Given the description of an element on the screen output the (x, y) to click on. 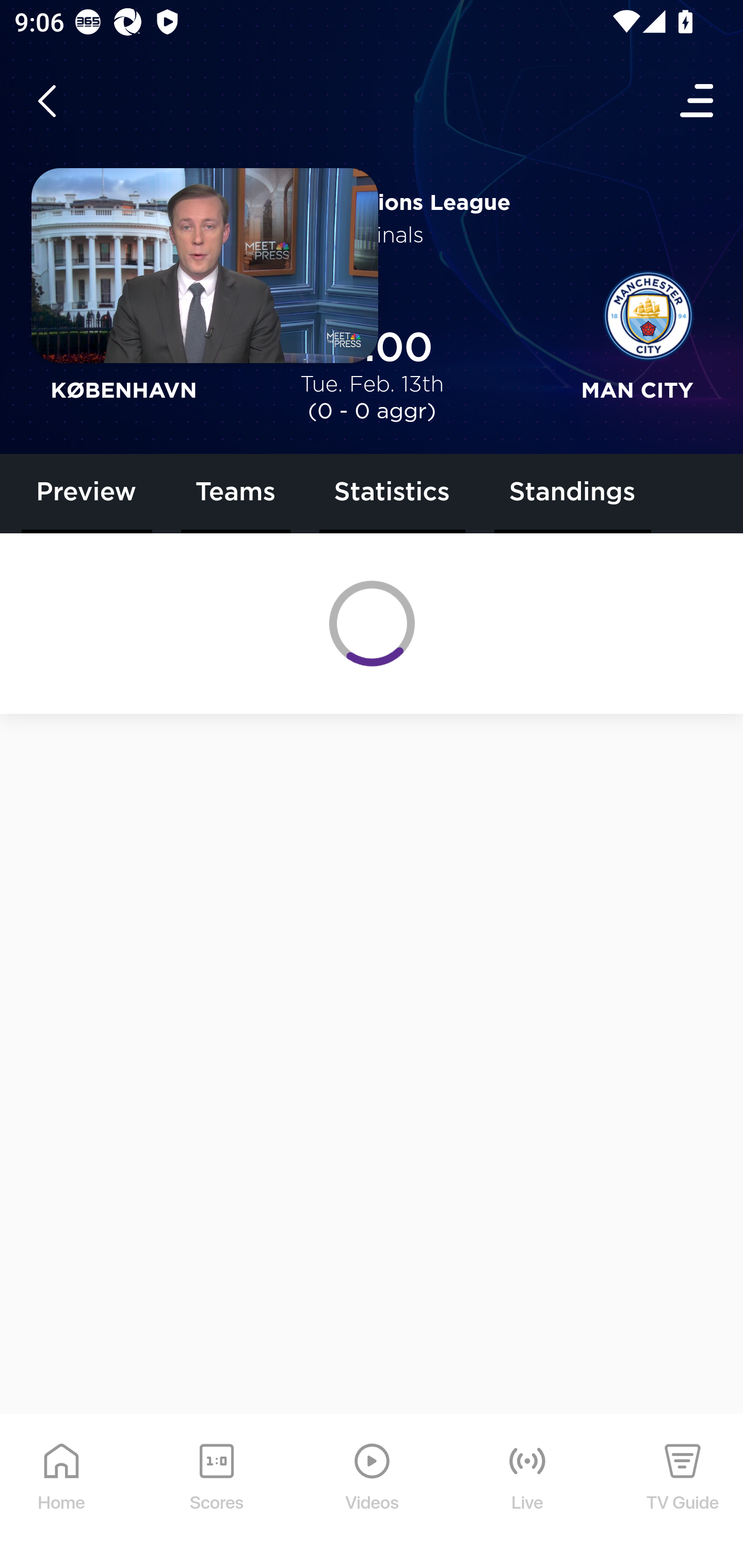
icon back (46, 101)
Open Menu Icon (697, 101)
Preview (87, 493)
Teams (236, 493)
Statistics (391, 493)
Standings (571, 493)
Home Home Icon Home (61, 1491)
Scores Scores Icon Scores (216, 1491)
Videos Videos Icon Videos (372, 1491)
TV Guide TV Guide Icon TV Guide (682, 1491)
